Given the description of an element on the screen output the (x, y) to click on. 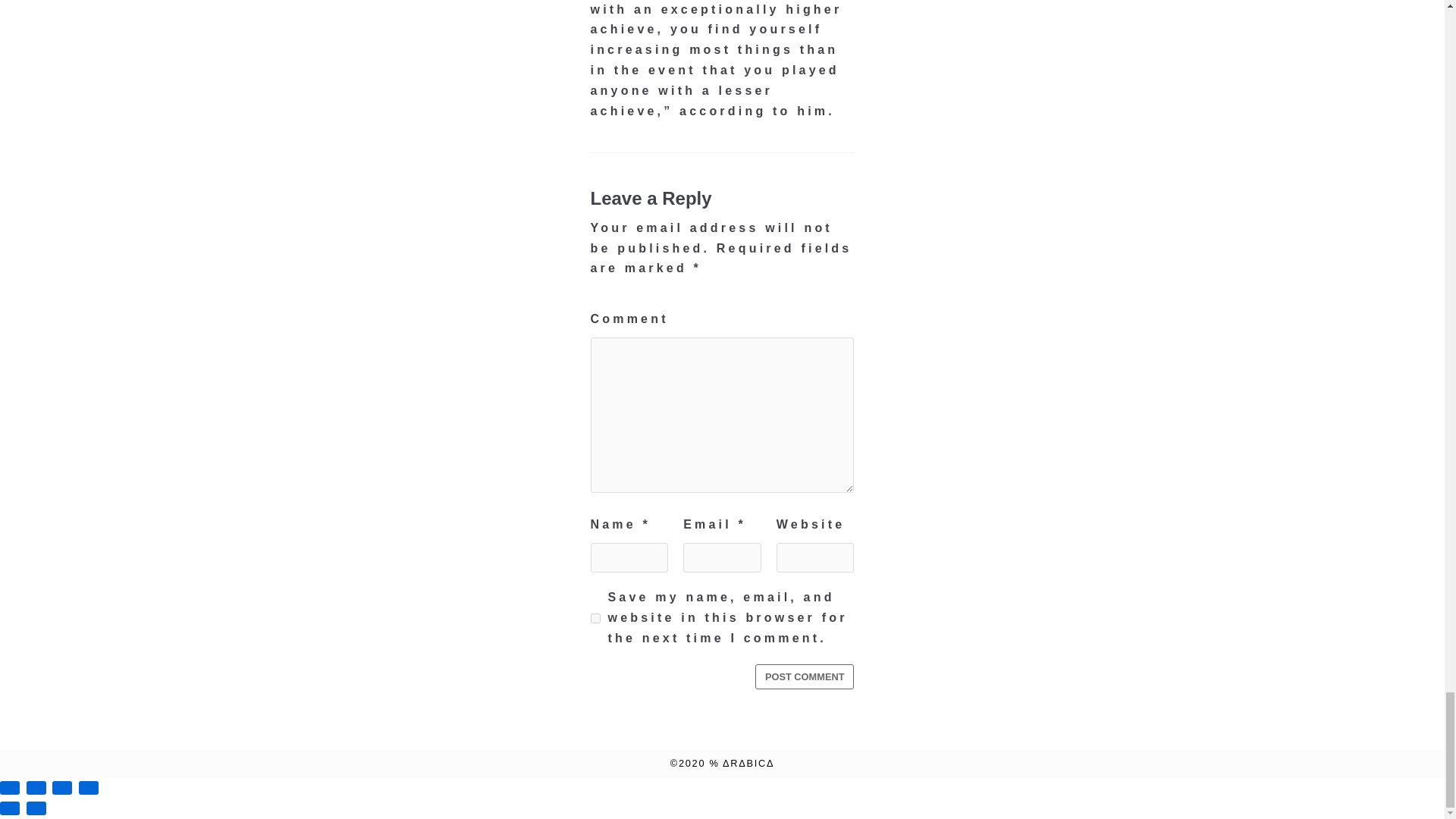
Post Comment (804, 676)
yes (594, 618)
Post Comment (804, 676)
